Given the description of an element on the screen output the (x, y) to click on. 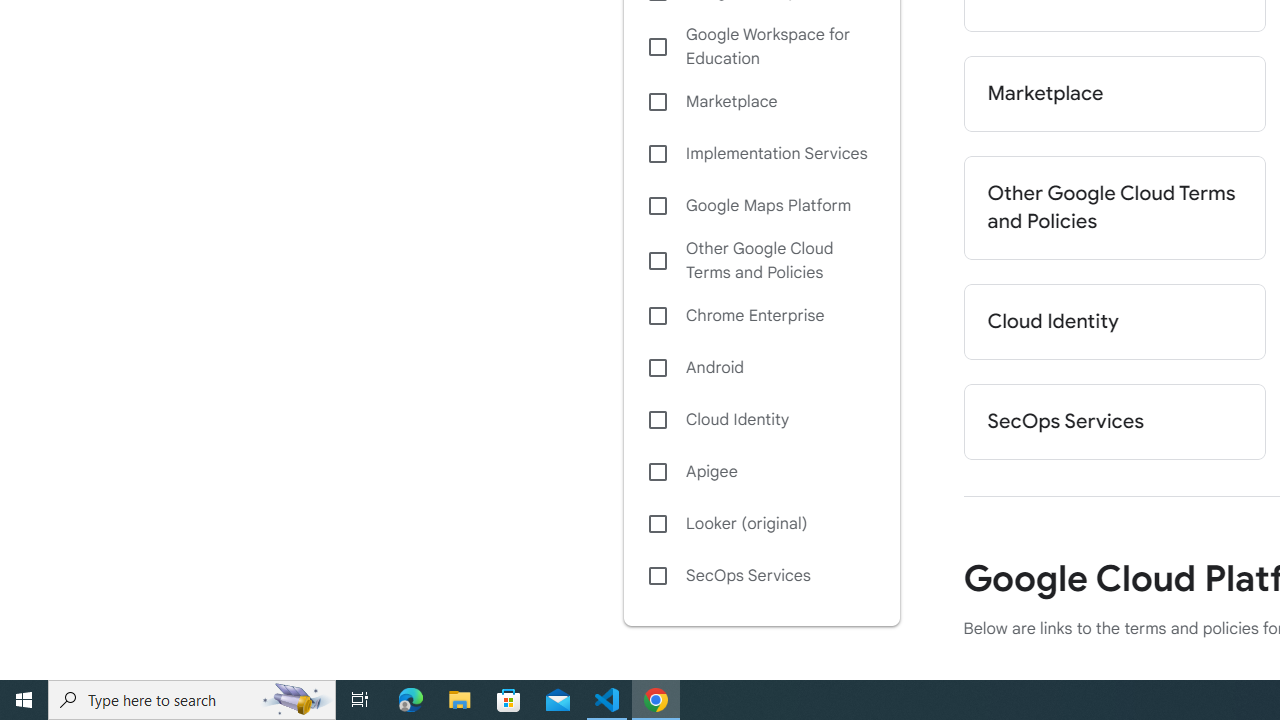
Android (761, 367)
